Given the description of an element on the screen output the (x, y) to click on. 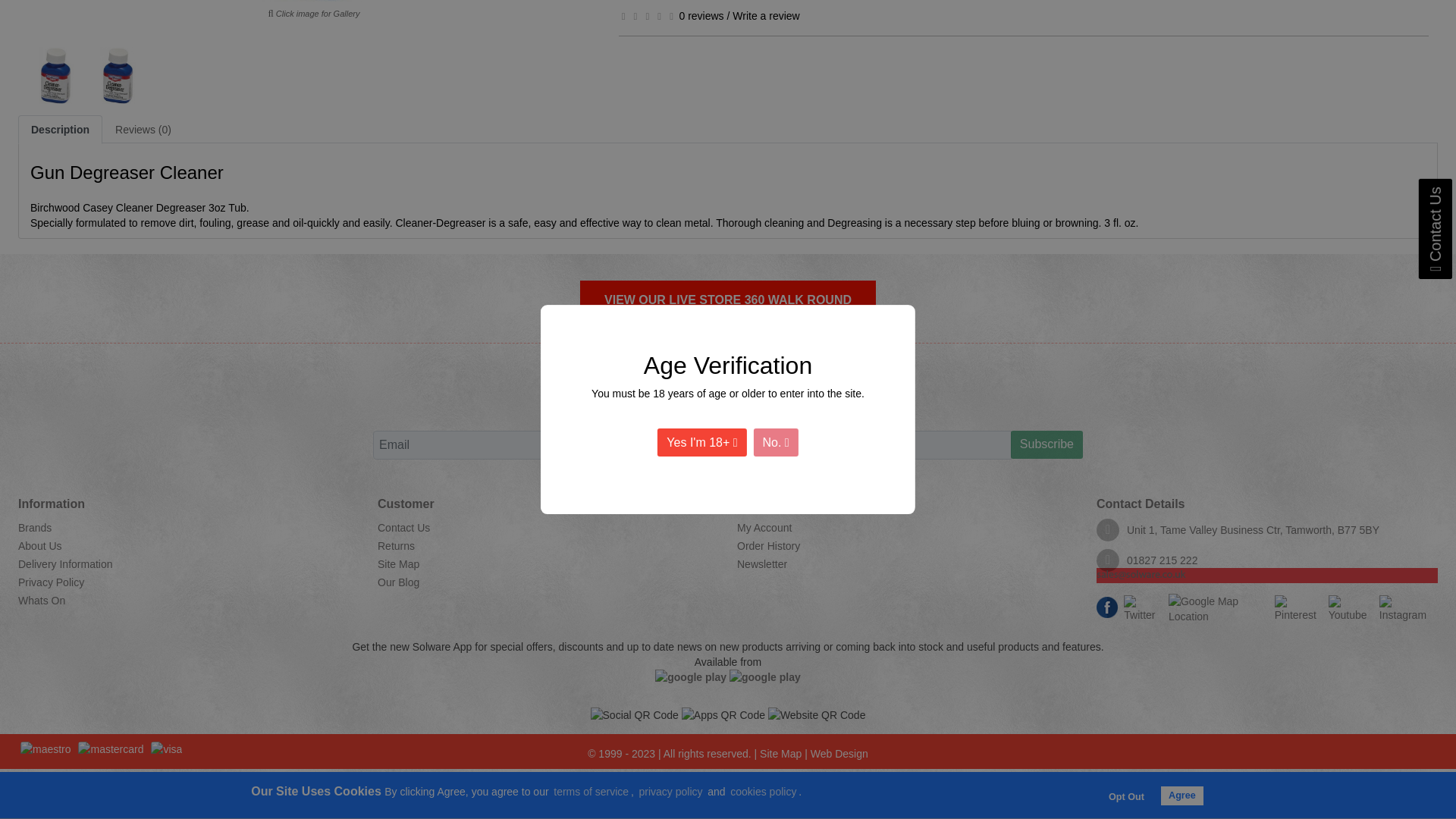
Birchwood Casey Cleaner Degreaser 3oz Tub (55, 75)
Birchwood Casey Cleaner Degreaser 3oz Tub (117, 75)
